Given the description of an element on the screen output the (x, y) to click on. 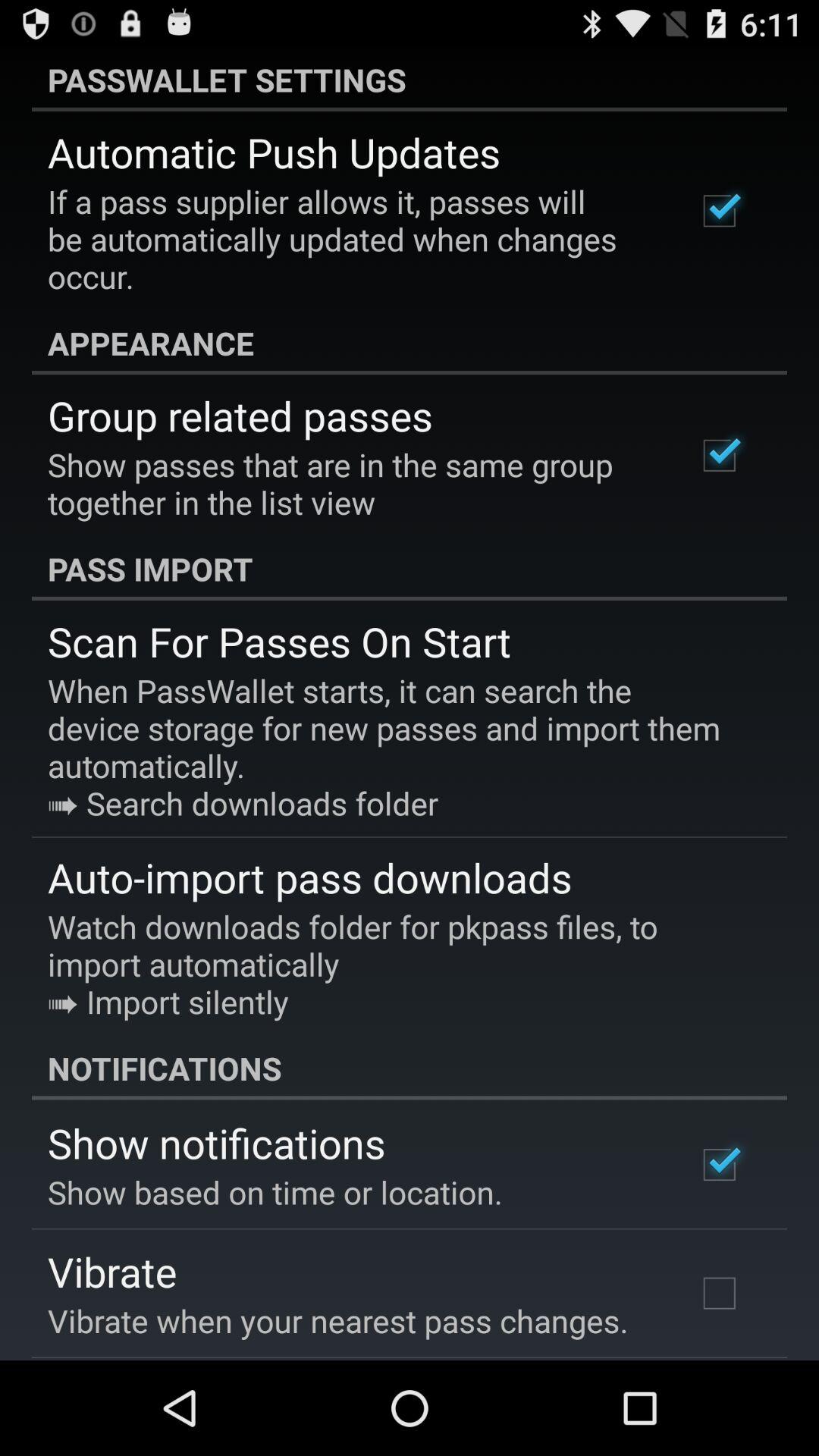
choose the if a pass (351, 238)
